Given the description of an element on the screen output the (x, y) to click on. 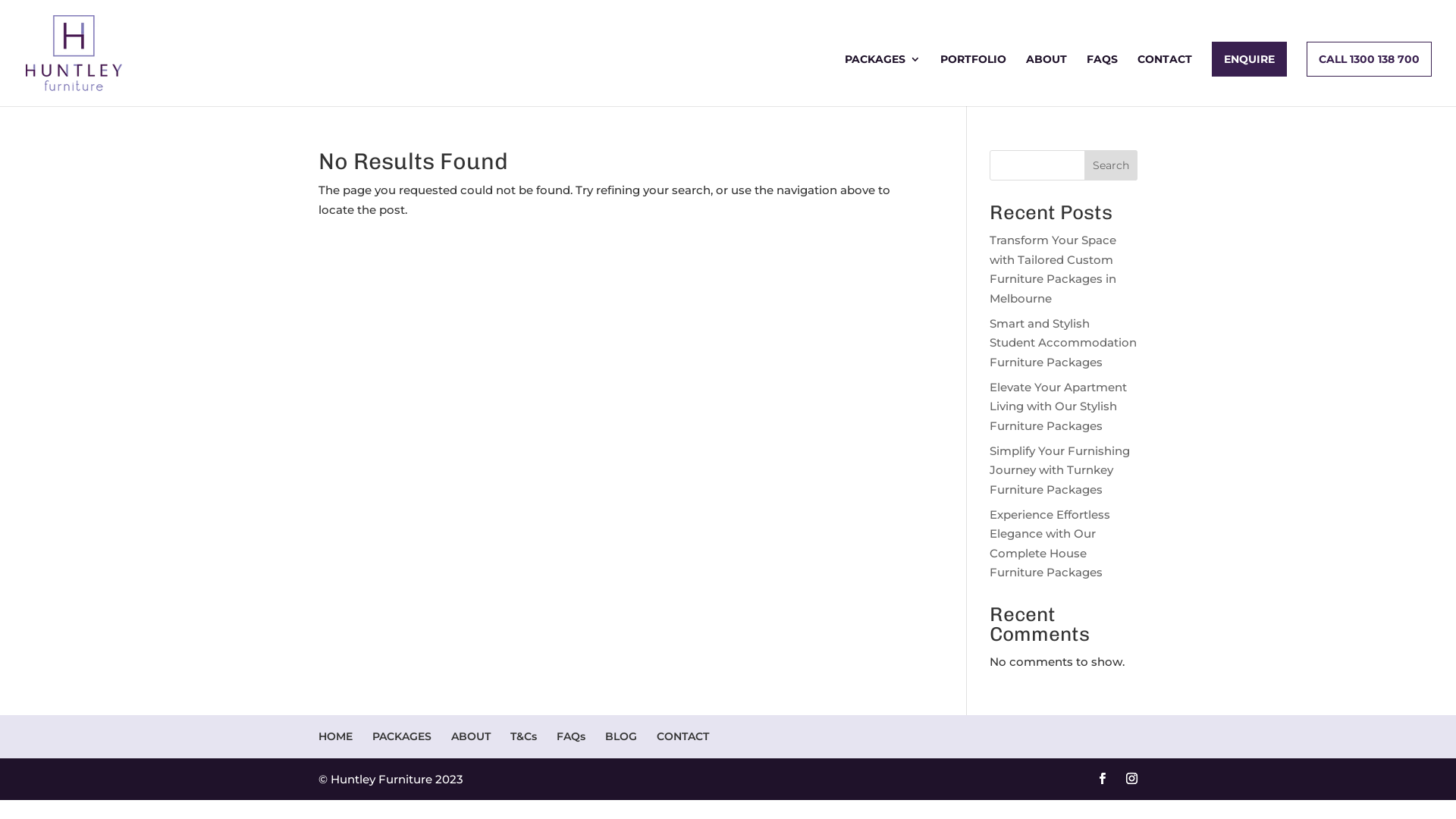
FAQS Element type: text (1101, 79)
PORTFOLIO Element type: text (973, 79)
ABOUT Element type: text (1046, 79)
CONTACT Element type: text (682, 736)
HOME Element type: text (335, 736)
PACKAGES Element type: text (401, 736)
FAQs Element type: text (570, 736)
PACKAGES Element type: text (882, 79)
Smart and Stylish Student Accommodation Furniture Packages Element type: text (1062, 341)
ABOUT Element type: text (470, 736)
ENQUIRE Element type: text (1248, 58)
CALL 1300 138 700 Element type: text (1368, 58)
CONTACT Element type: text (1164, 79)
Search Element type: text (1110, 165)
T&Cs Element type: text (523, 736)
BLOG Element type: text (621, 736)
